Given the description of an element on the screen output the (x, y) to click on. 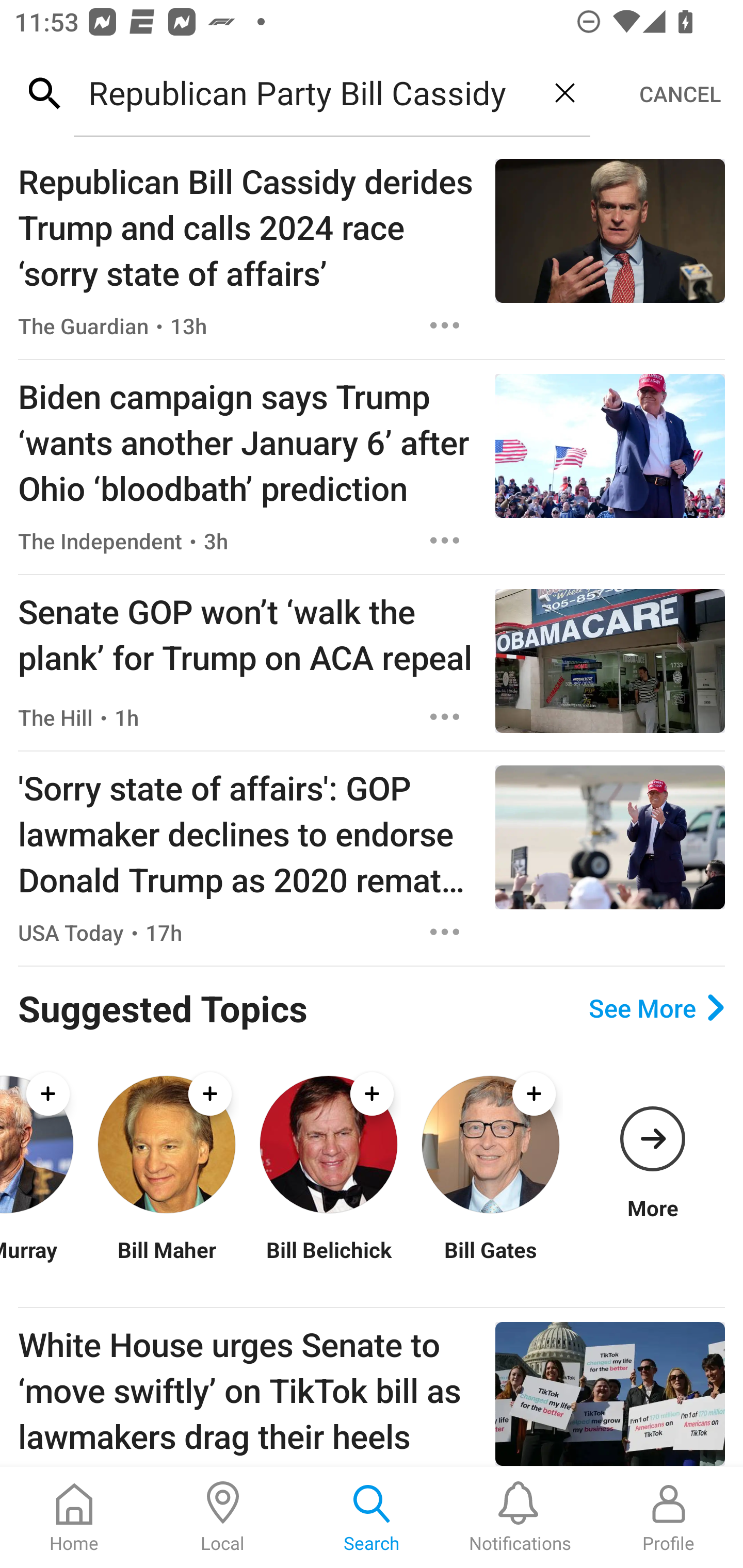
Clear query (564, 92)
CANCEL (680, 93)
Republican Party Bill Cassidy (306, 92)
Options (444, 325)
Options (444, 540)
Options (444, 716)
Options (444, 932)
See More (656, 1007)
More (652, 1144)
Bill Maher (166, 1261)
Bill Belichick (328, 1261)
Bill Gates (490, 1261)
Home (74, 1517)
Local (222, 1517)
Notifications (519, 1517)
Profile (668, 1517)
